Given the description of an element on the screen output the (x, y) to click on. 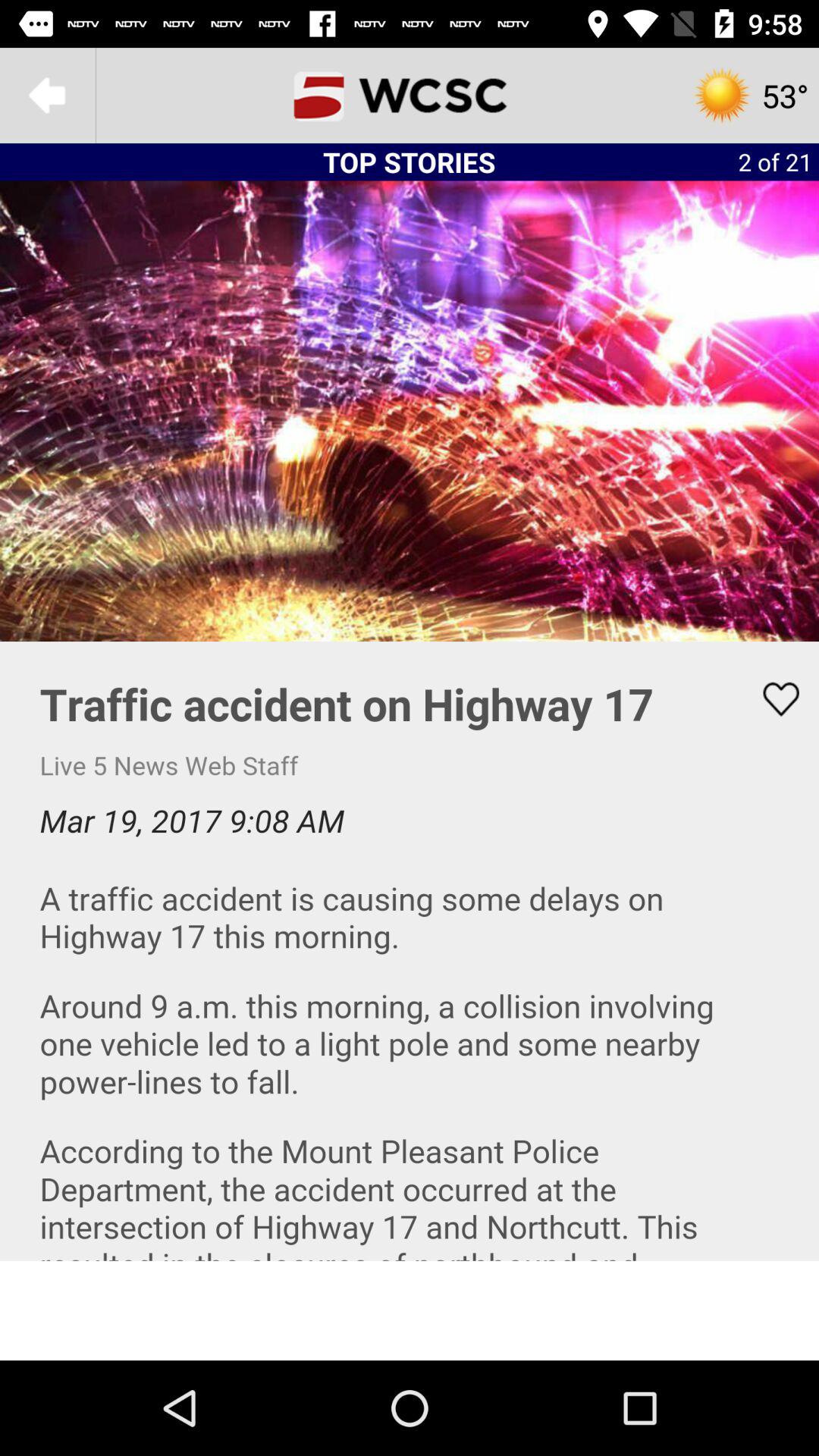
like button (771, 699)
